Given the description of an element on the screen output the (x, y) to click on. 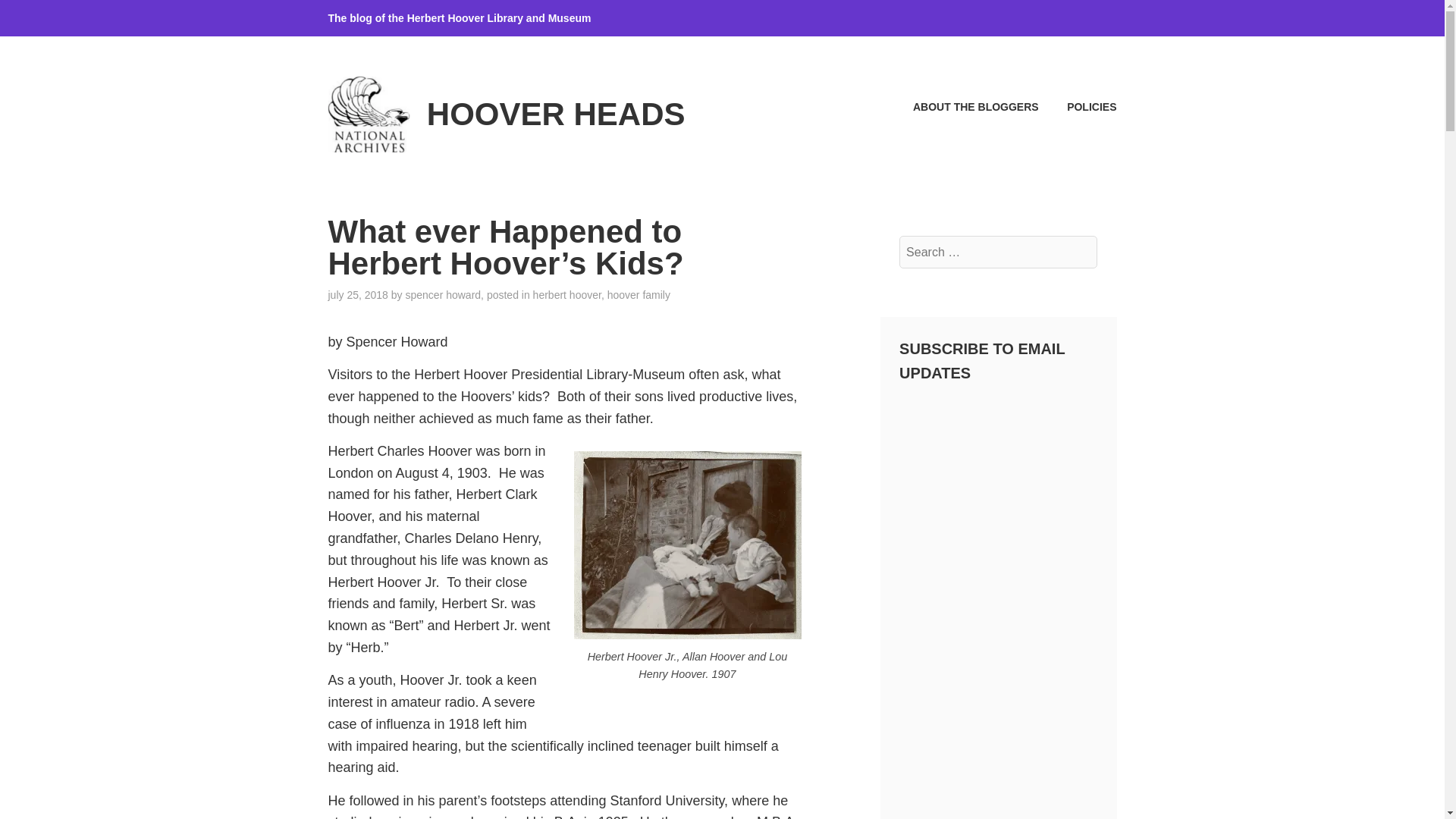
ABOUT THE BLOGGERS (962, 106)
july 25, 2018 (357, 295)
Search (48, 17)
herbert hoover (566, 295)
POLICIES (1079, 106)
HOOVER HEADS (555, 113)
hoover family (638, 295)
spencer howard (442, 295)
